Given the description of an element on the screen output the (x, y) to click on. 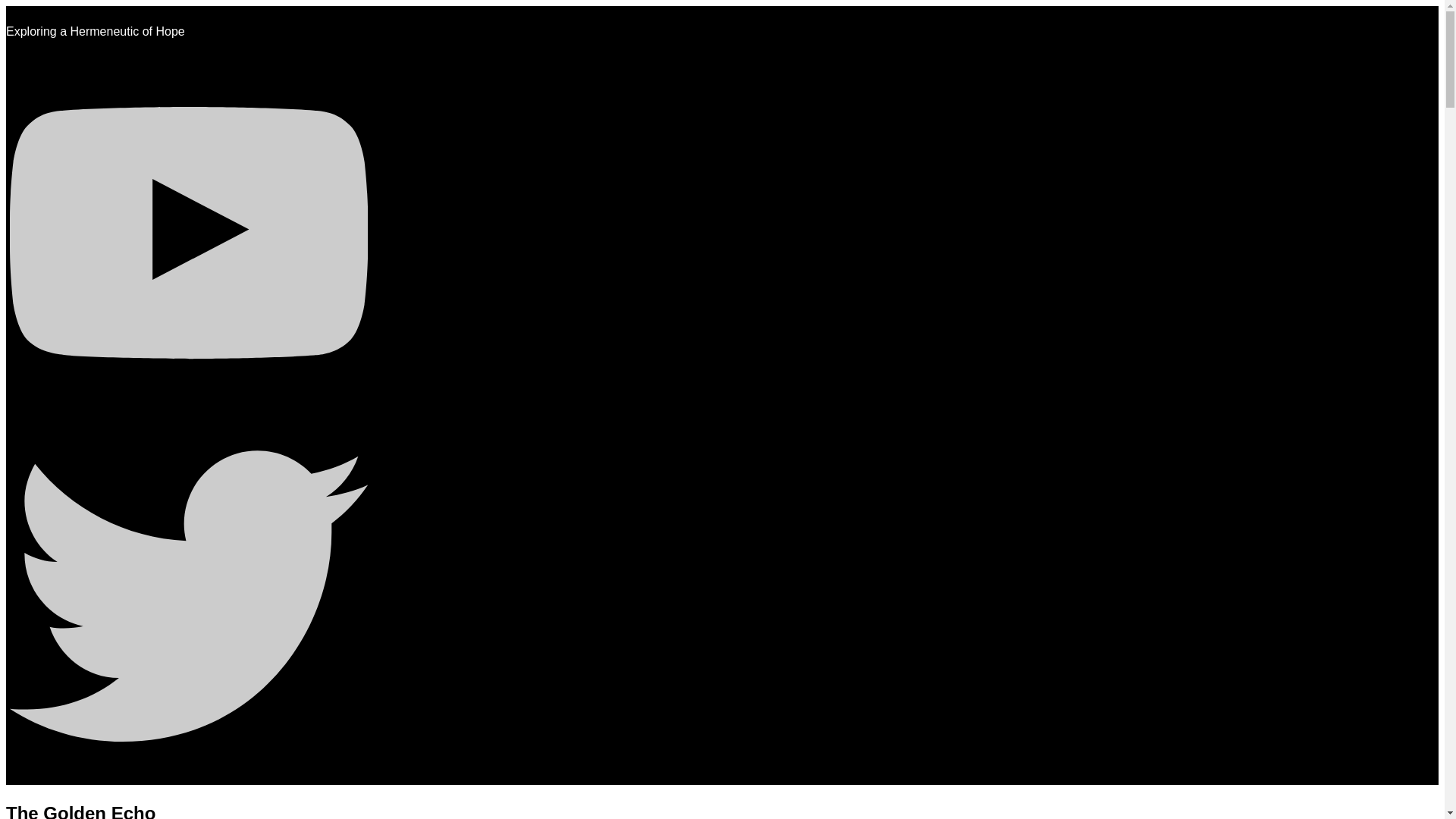
The Golden Echo (80, 814)
